Given the description of an element on the screen output the (x, y) to click on. 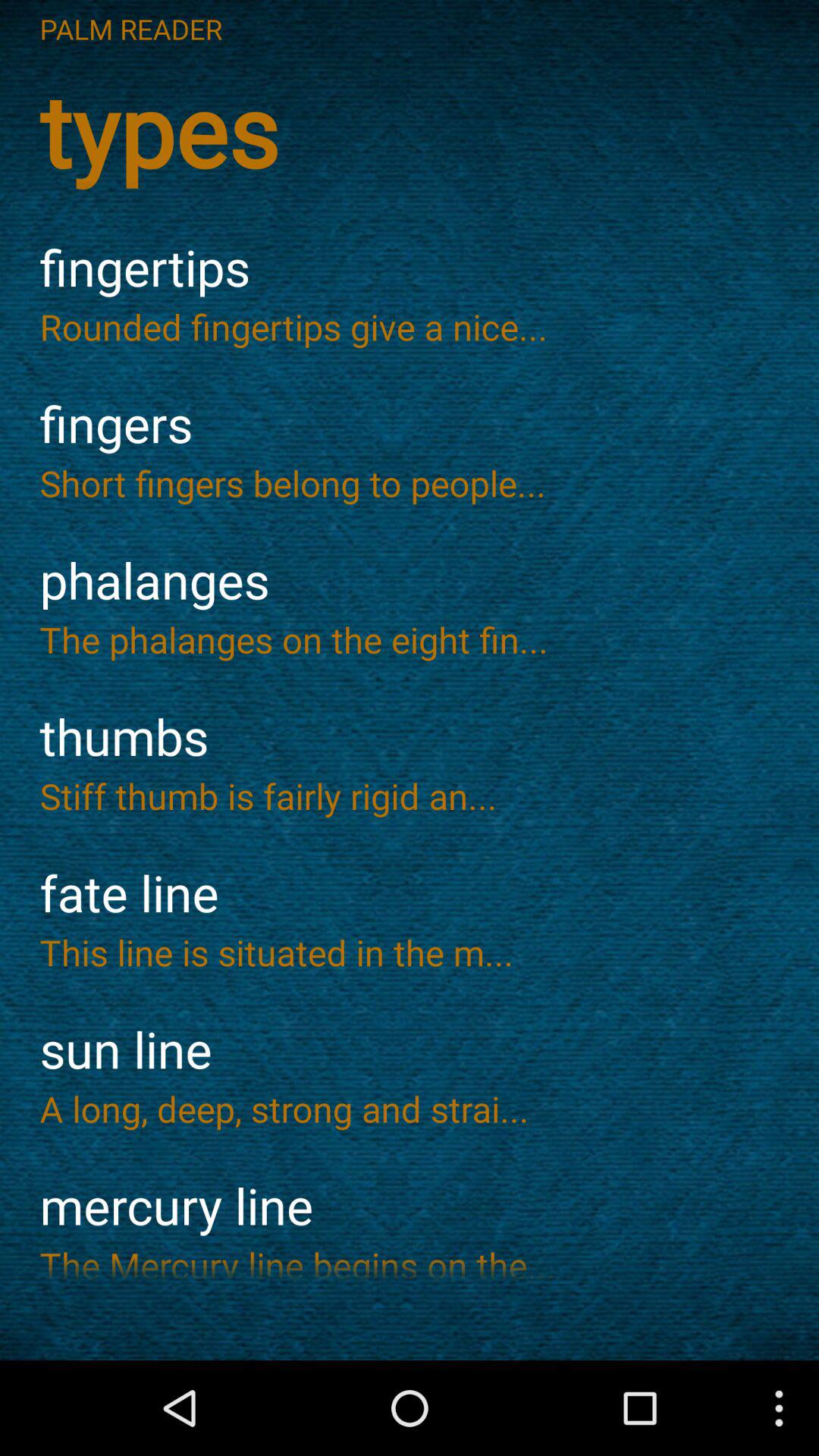
press the app above phalanges (409, 482)
